Given the description of an element on the screen output the (x, y) to click on. 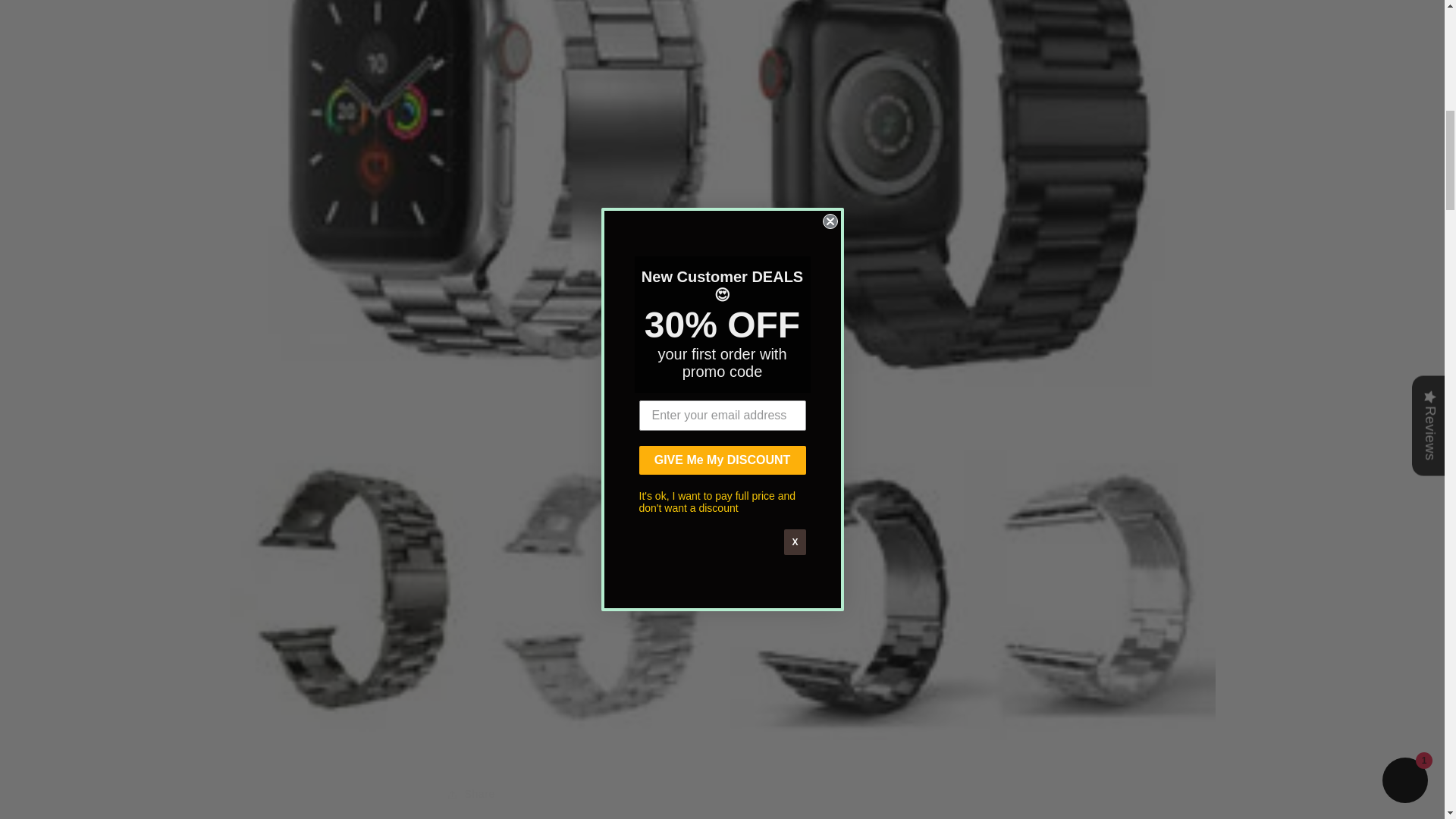
Share (721, 794)
